Given the description of an element on the screen output the (x, y) to click on. 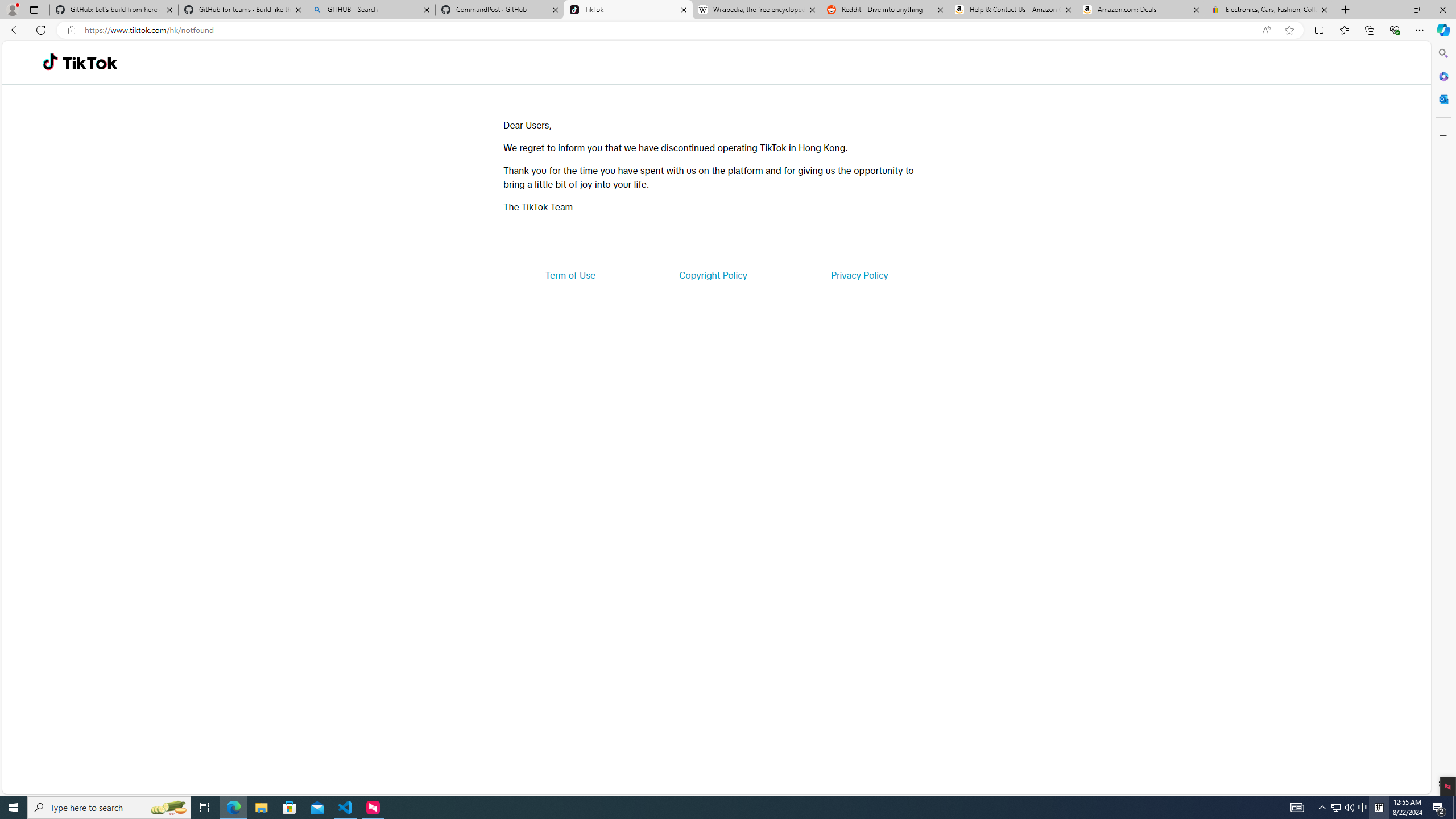
TikTok (628, 9)
Term of Use (569, 274)
Privacy Policy (858, 274)
